Given the description of an element on the screen output the (x, y) to click on. 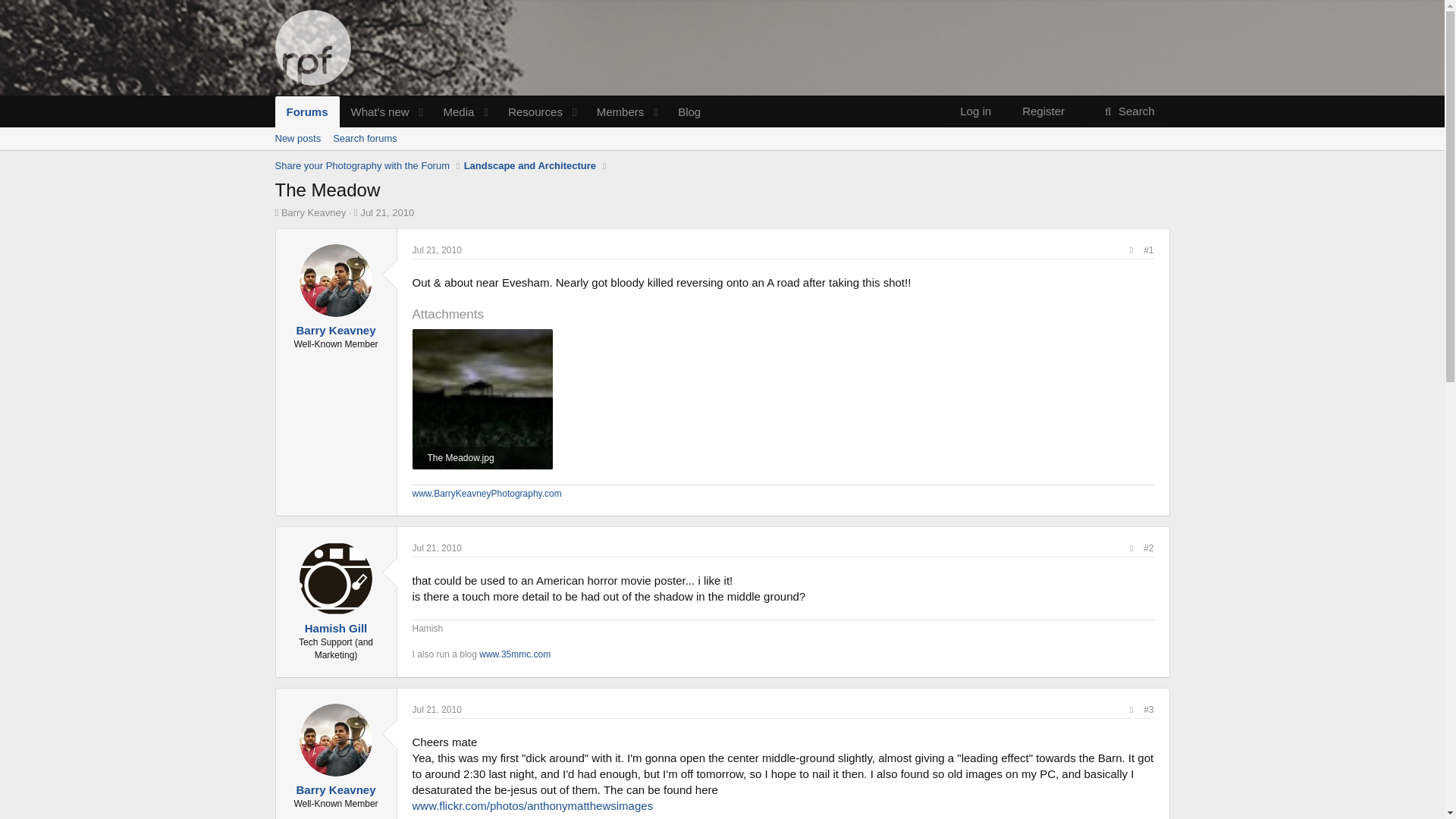
Search forums (364, 138)
Jul 21, 2010 at 11:01 AM (436, 249)
Log in (492, 111)
Jul 21, 2010 at 11:43 AM (975, 110)
Blog (492, 111)
Jul 21, 2010 at 11:01 AM (436, 547)
New posts (688, 111)
The Meadow.jpg (386, 212)
What's new (296, 138)
Register (482, 457)
Members (374, 111)
Forums (1043, 110)
